Given the description of an element on the screen output the (x, y) to click on. 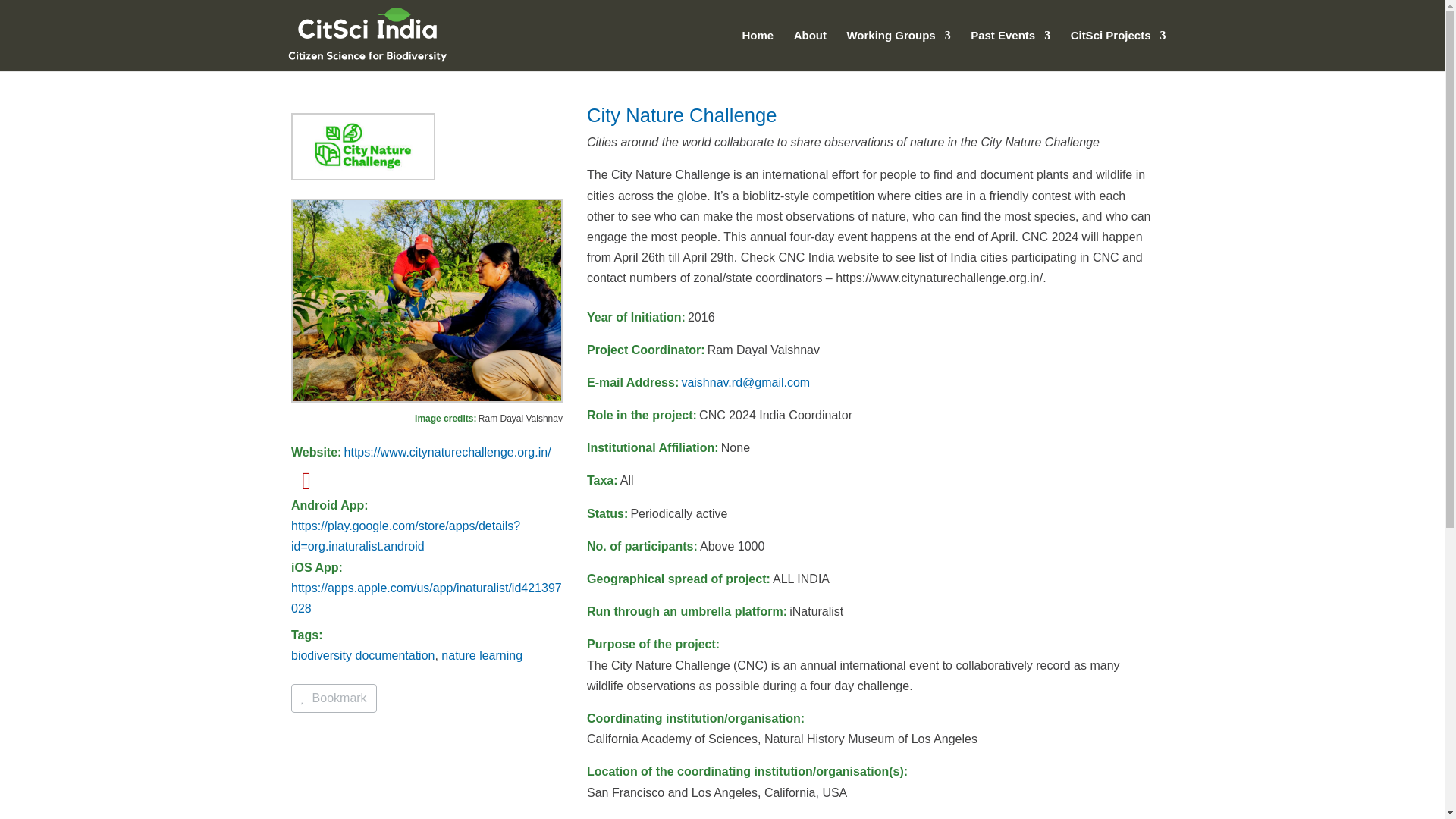
Past Events (1010, 50)
Bookmark (334, 697)
nature learning (481, 655)
biodiversity documentation (362, 655)
Working Groups (897, 50)
nature learning (481, 655)
City Nature Challenge (681, 115)
City Nature Challenge (681, 115)
YouTube (306, 484)
CitSci Projects (1118, 50)
biodiversity documentation (362, 655)
